Given the description of an element on the screen output the (x, y) to click on. 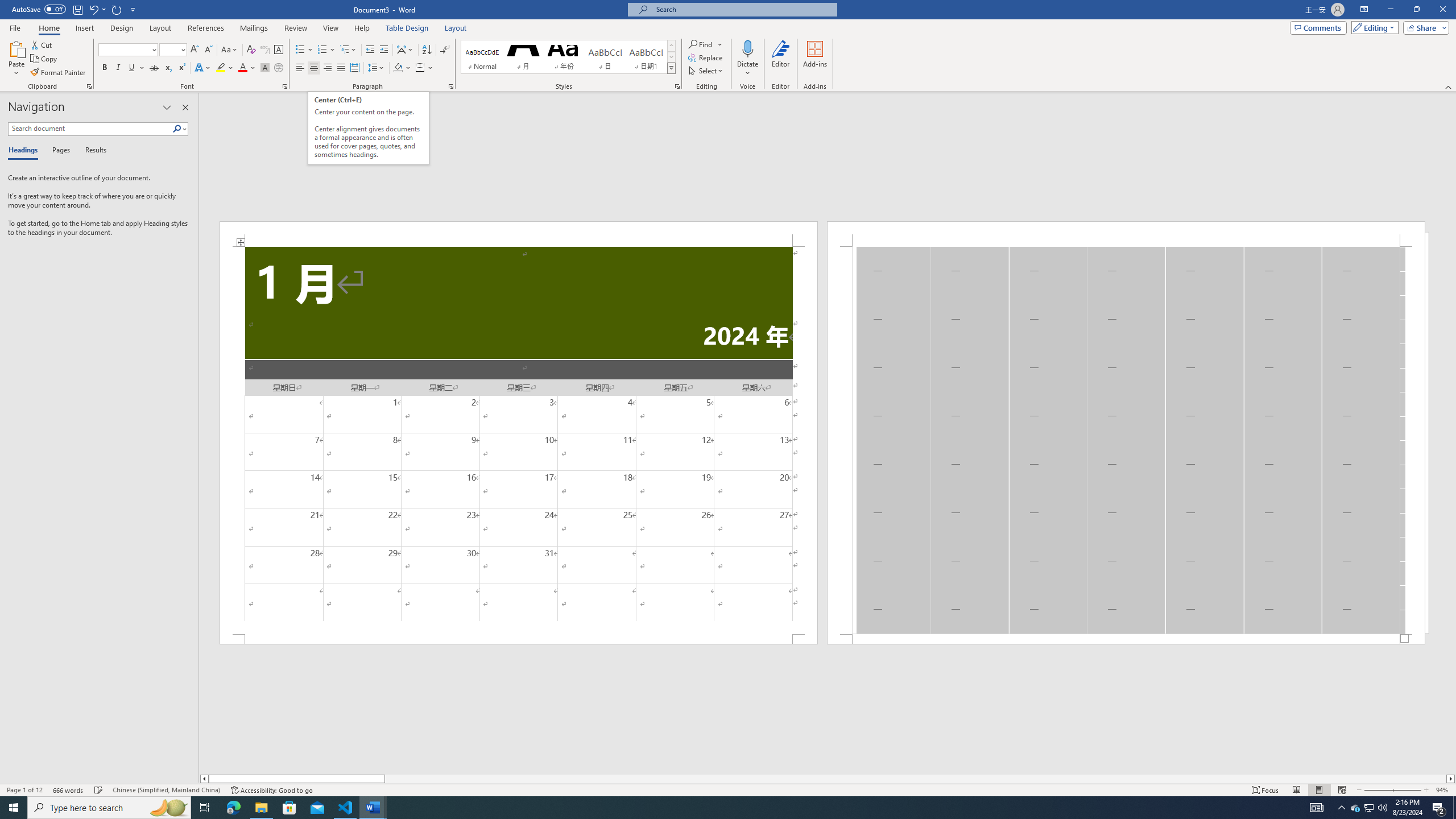
Shading RGB(0, 0, 0) (397, 67)
Styles (670, 67)
Copy (45, 58)
Page right (914, 778)
Class: NetUIScrollBar (827, 778)
Mode (1372, 27)
